Given the description of an element on the screen output the (x, y) to click on. 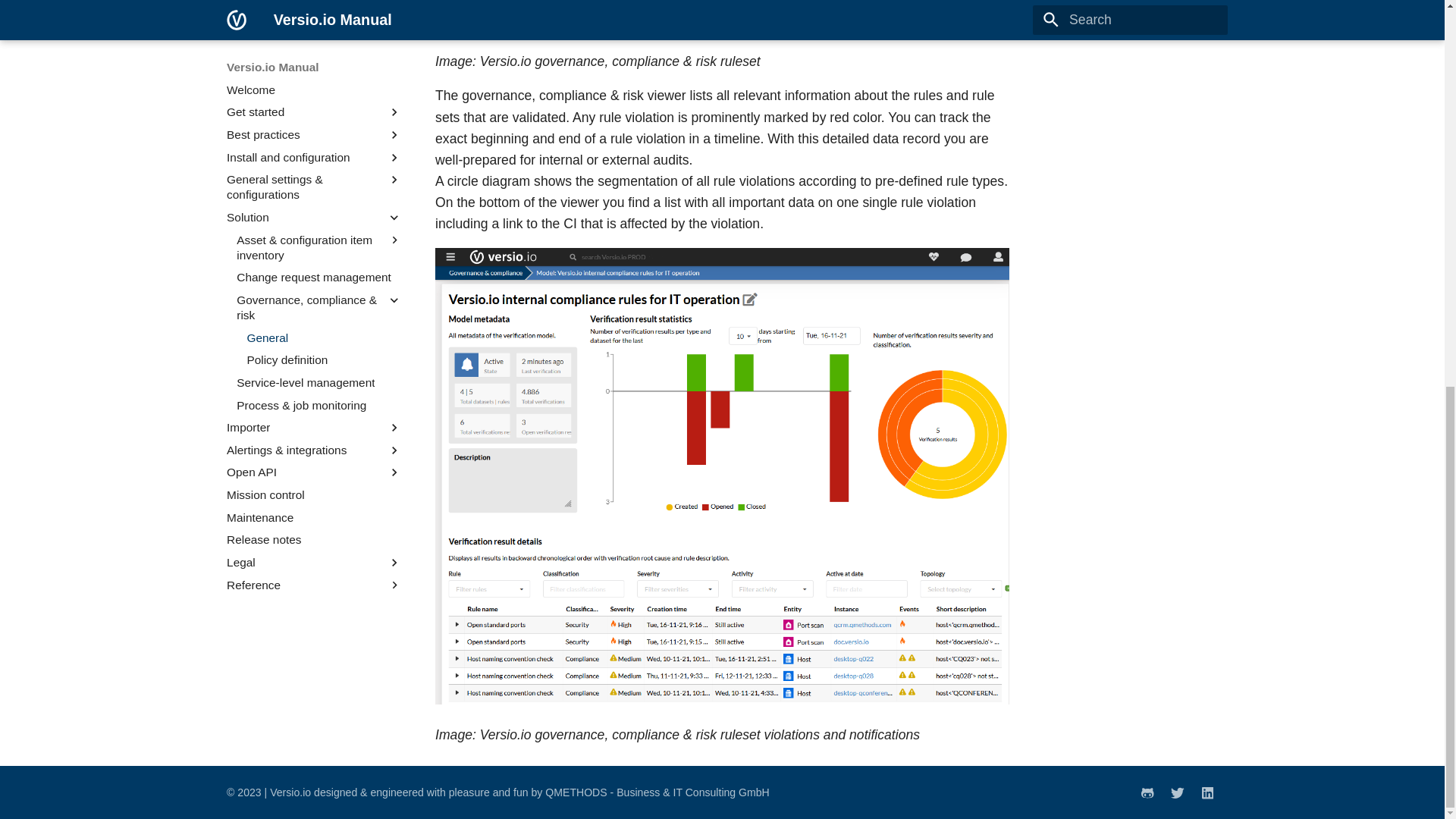
www.linkedin.com (1207, 791)
twitter.com (1177, 791)
github.com (1147, 791)
